Given the description of an element on the screen output the (x, y) to click on. 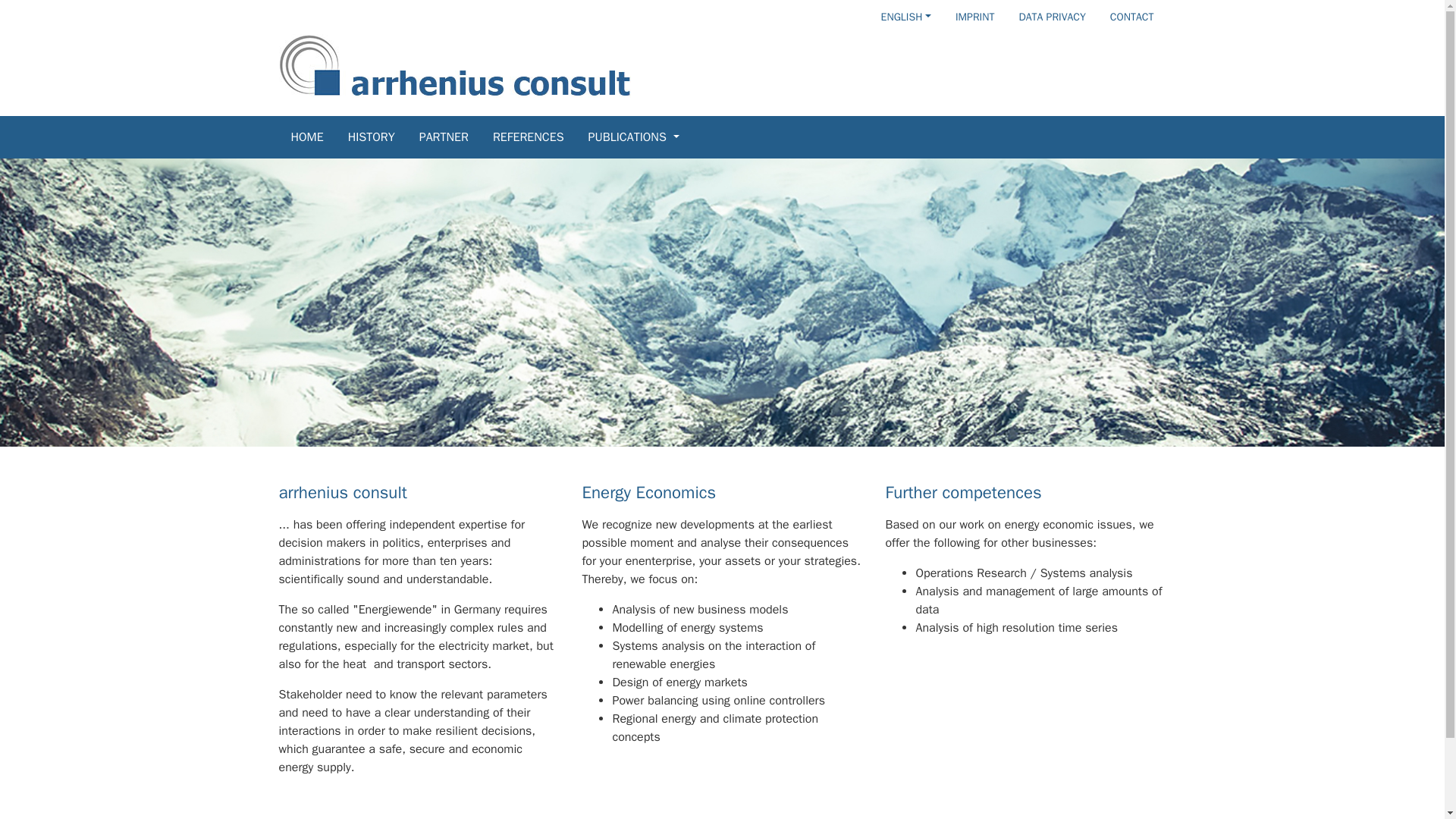
PUBLICATIONS (645, 137)
REFERENCES (540, 137)
HISTORY (383, 137)
Publications (645, 137)
History (383, 137)
References (540, 137)
PARTNER (456, 137)
Home (319, 137)
DATA PRIVACY (1051, 17)
ENGLISH (898, 17)
HOME (319, 137)
Partner (456, 137)
CONTACT (1131, 17)
IMPRINT (974, 17)
